Given the description of an element on the screen output the (x, y) to click on. 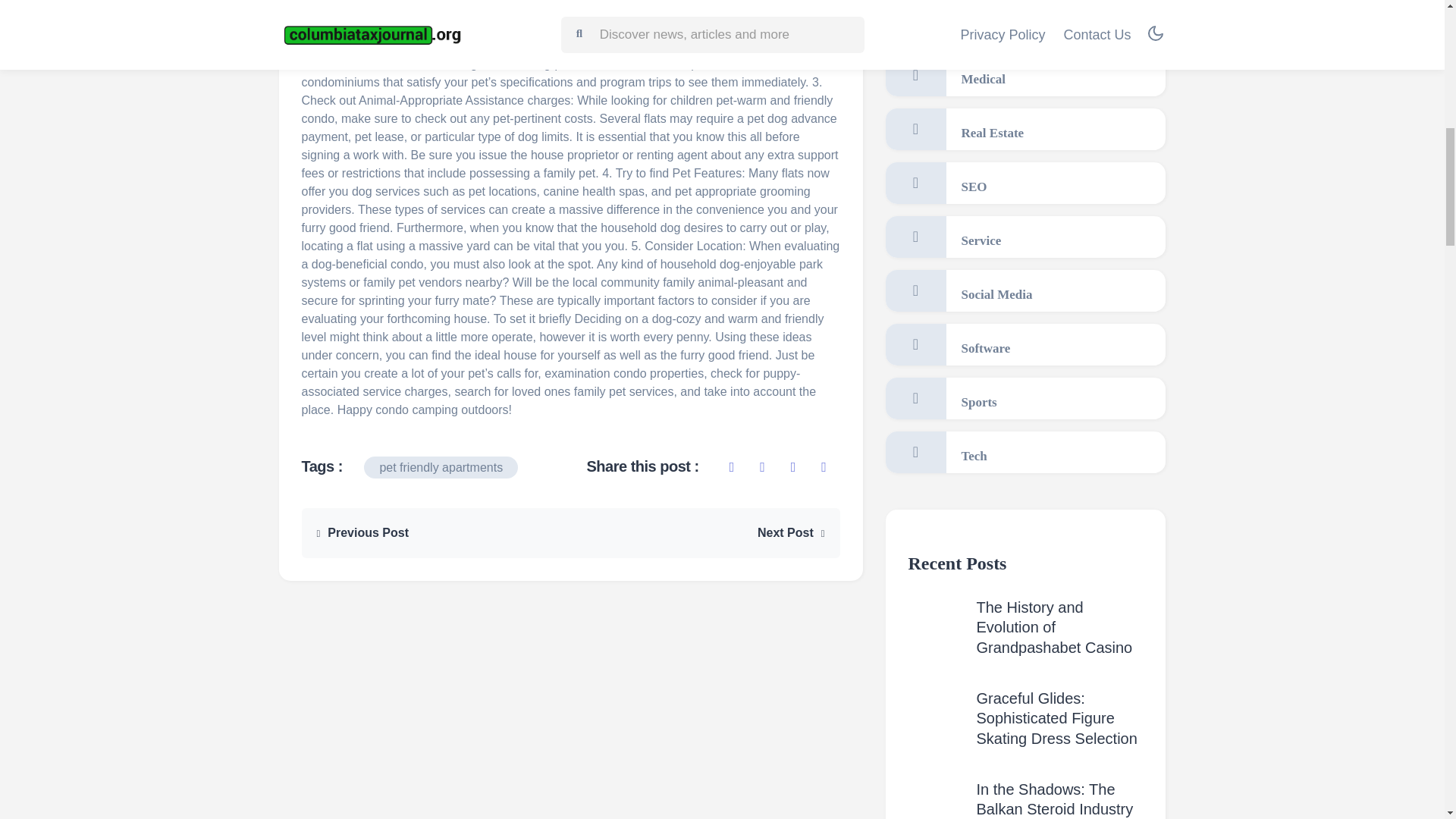
Real Estate (1025, 128)
Software (1025, 344)
SEO (1025, 182)
Next Post (791, 533)
The History and Evolution of Grandpashabet Casino (1054, 627)
Tech (1025, 452)
Previous Post (363, 533)
Law (1025, 21)
In the Shadows: The Balkan Steroid Industry and Its Players (1055, 800)
Service (1025, 236)
